Given the description of an element on the screen output the (x, y) to click on. 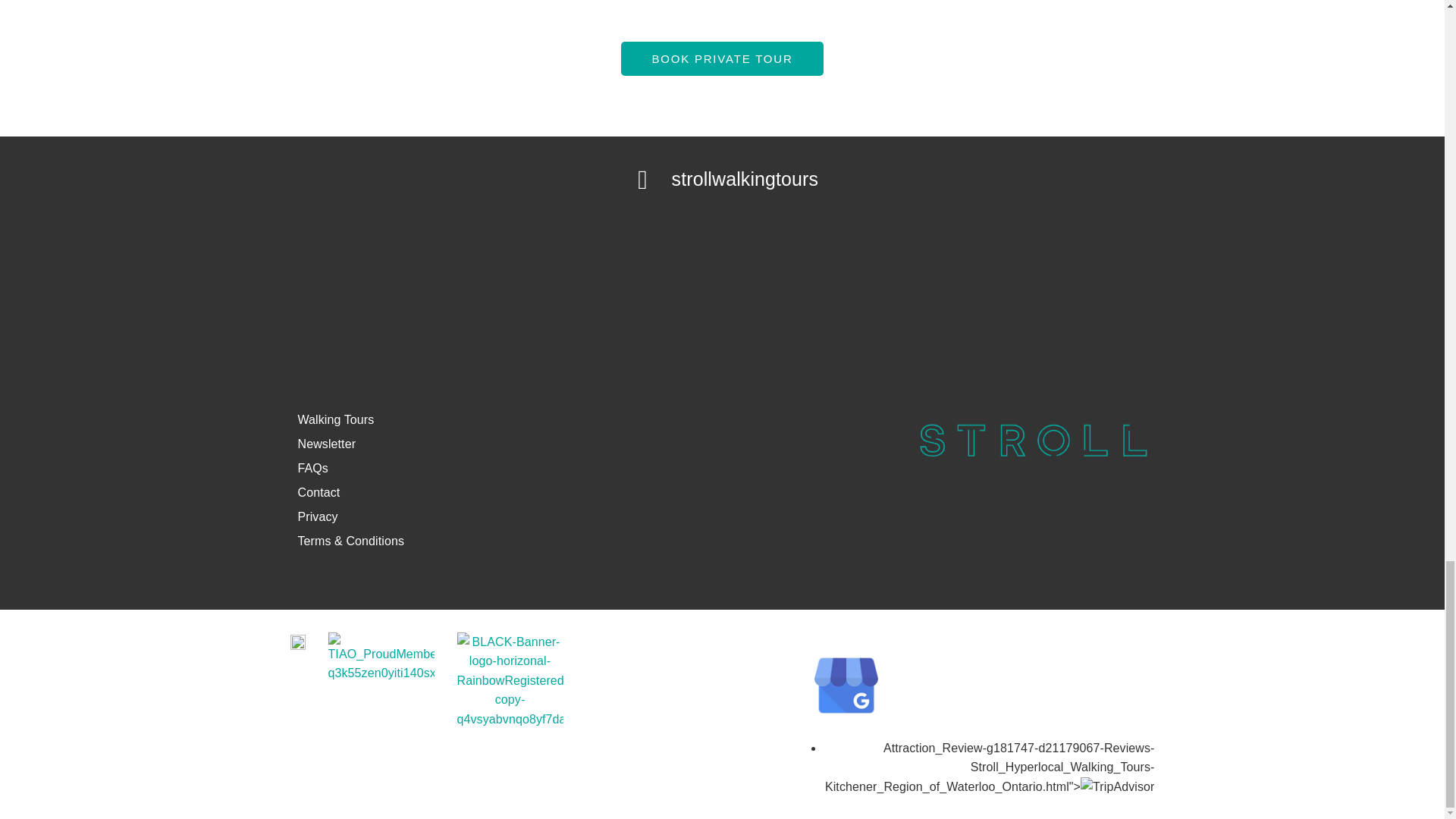
Terms and Conditions (350, 540)
Privacy (317, 516)
Contact Stroll (318, 492)
